Given the description of an element on the screen output the (x, y) to click on. 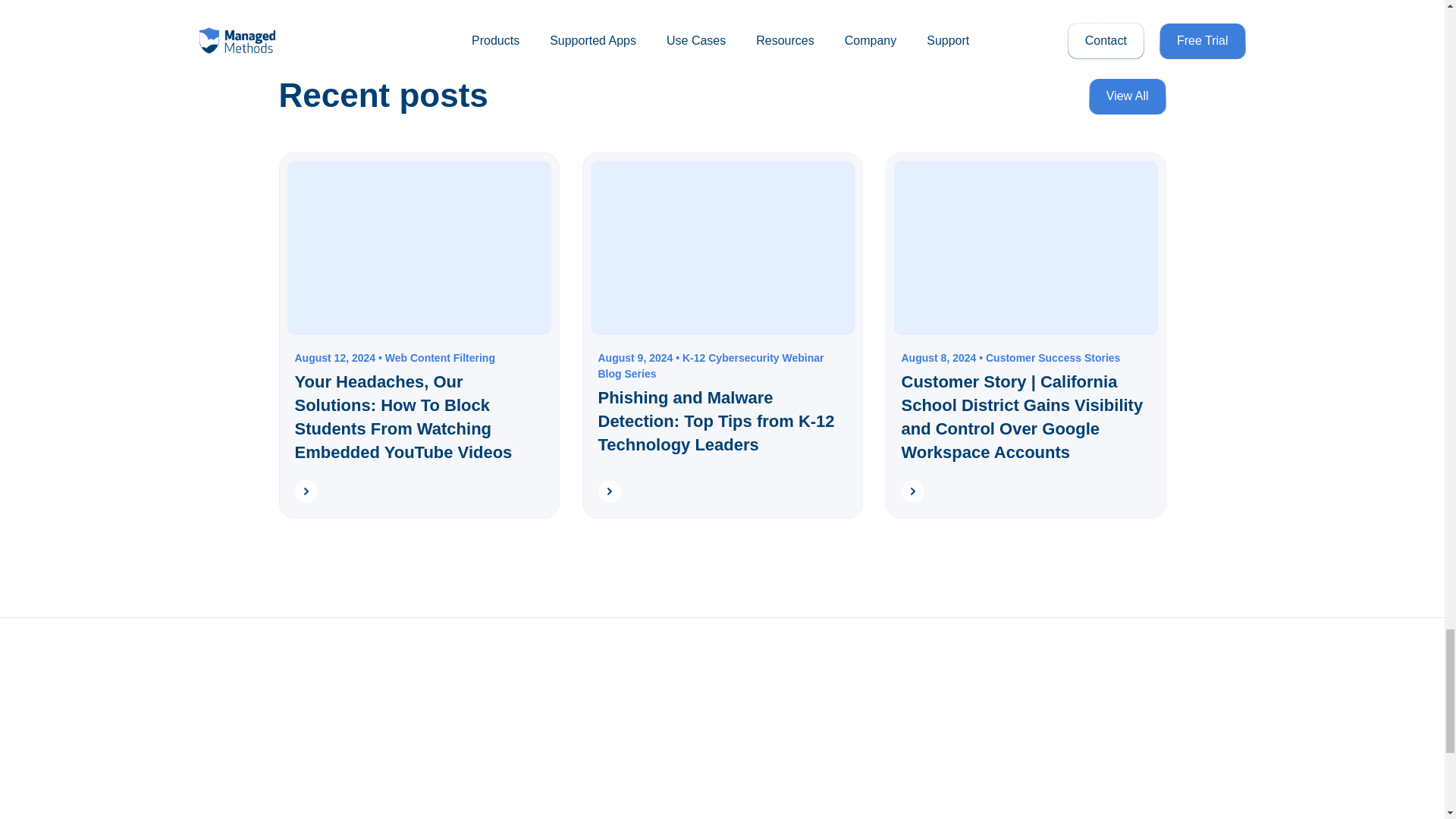
Read more (305, 490)
Read more (608, 490)
Read more (912, 490)
